Given the description of an element on the screen output the (x, y) to click on. 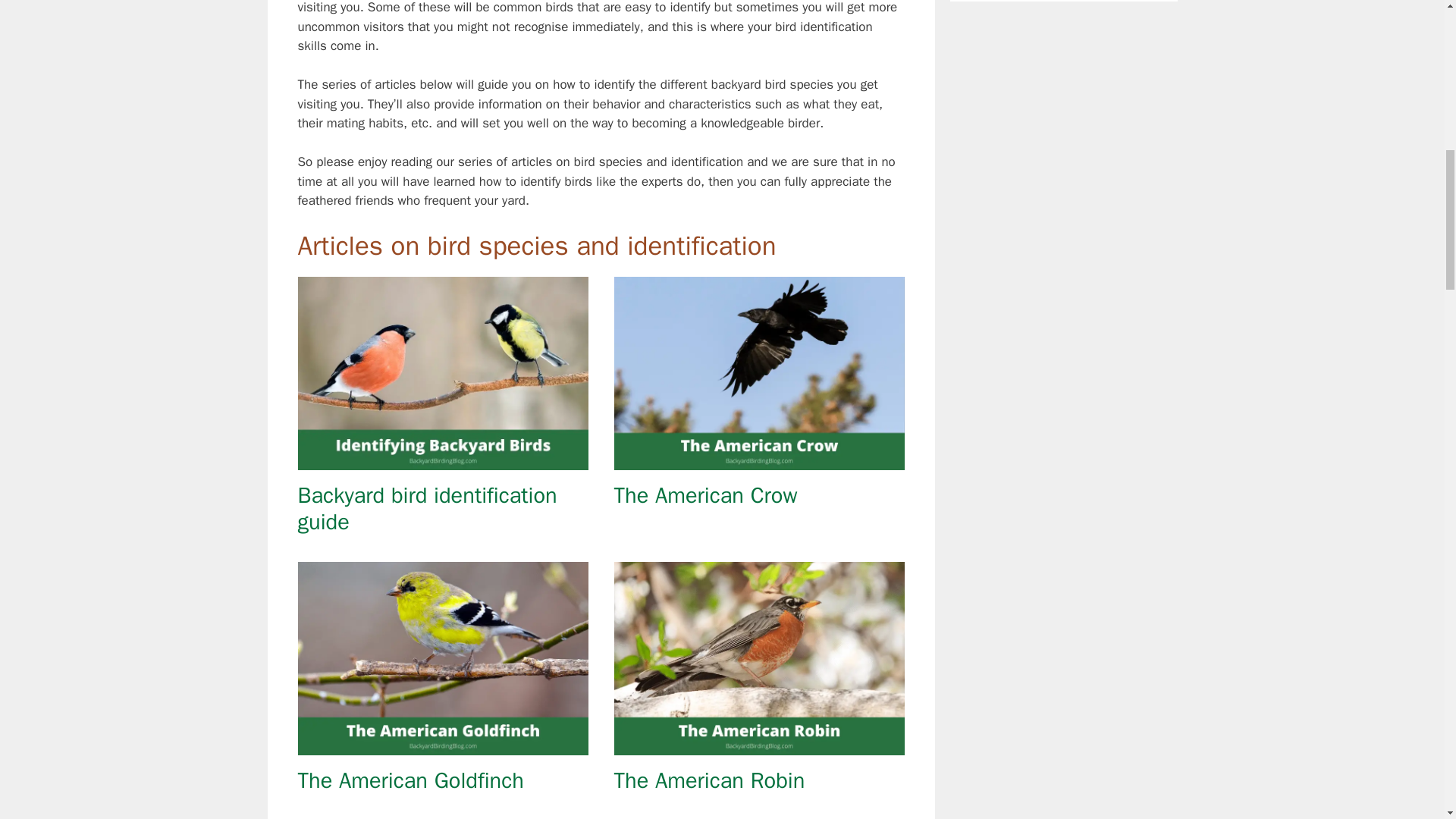
The American Crow (705, 495)
Backyard bird identification guide (442, 460)
The American Crow (759, 460)
The American Robin (759, 745)
The American Robin (709, 780)
Backyard bird identification guide (426, 508)
The American Goldfinch (442, 745)
The American Goldfinch (409, 780)
